Given the description of an element on the screen output the (x, y) to click on. 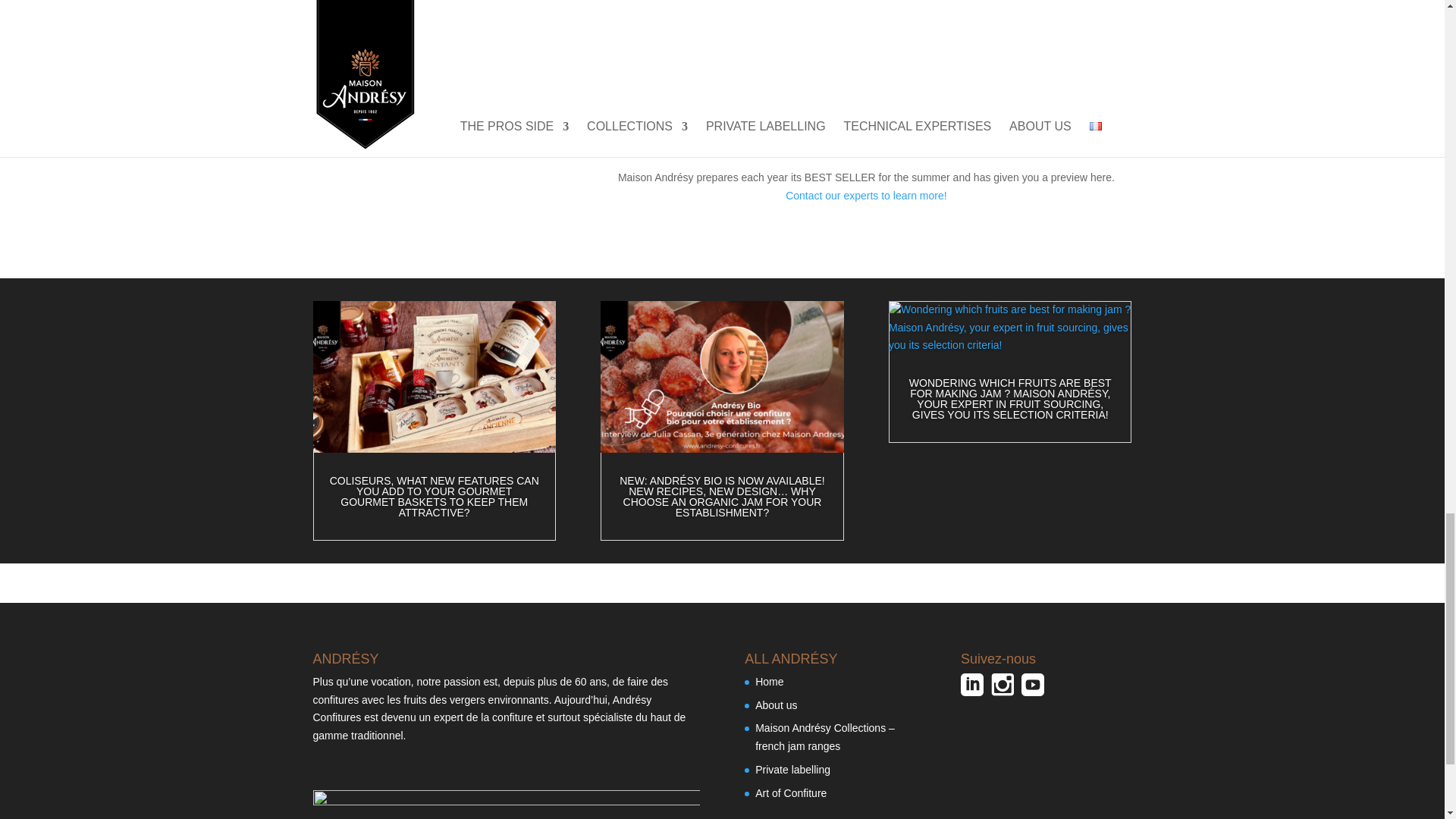
our catalogs (723, 138)
Home (769, 681)
Contact our experts to learn more! (866, 195)
rhubarb jam (638, 16)
